Given the description of an element on the screen output the (x, y) to click on. 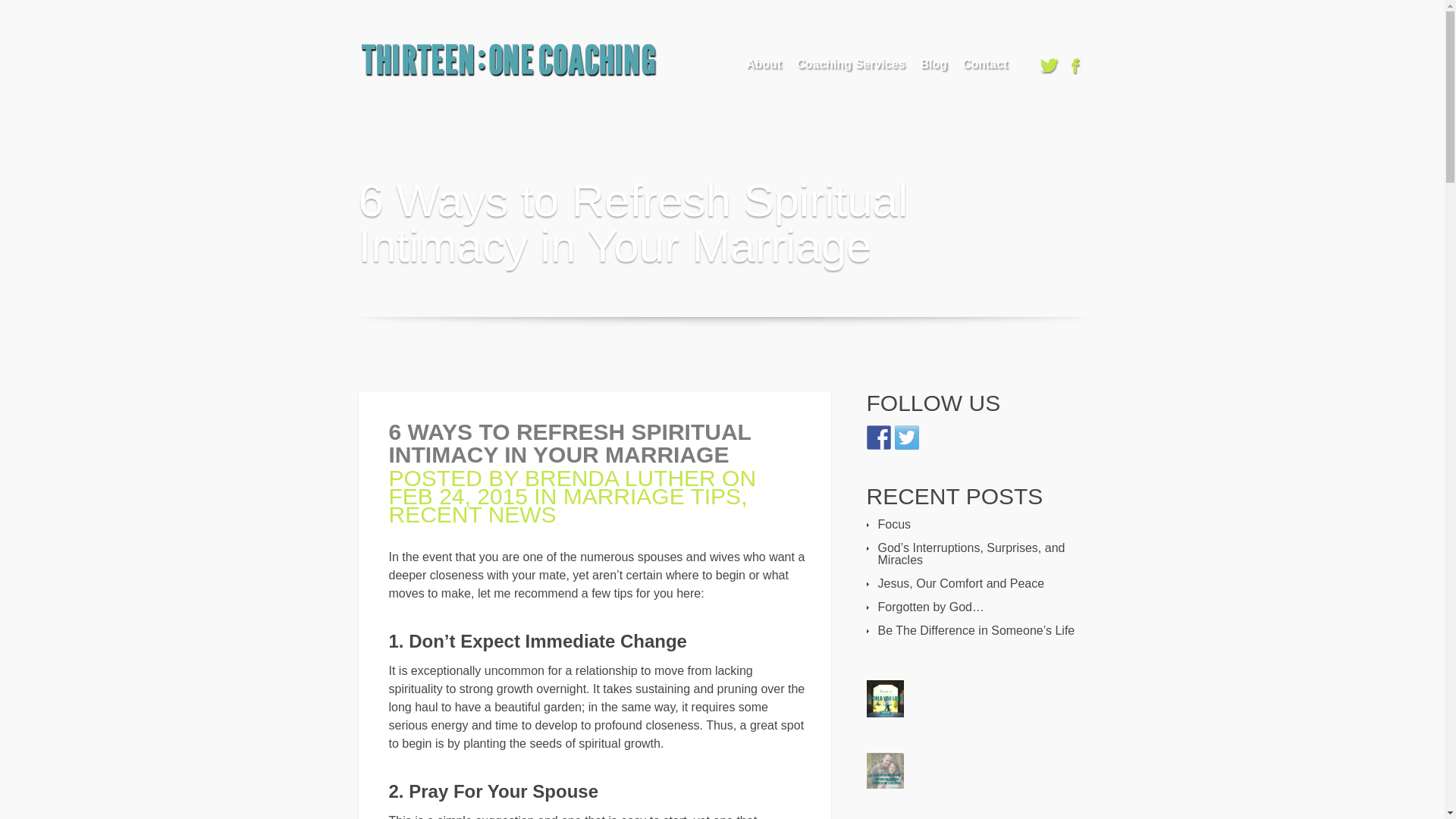
BRENDA LUTHER (620, 478)
RECENT NEWS (472, 514)
Contact (984, 67)
MARRIAGE TIPS (652, 496)
About (762, 67)
Blog (933, 67)
Posts by Brenda Luther (620, 478)
Coaching Services (850, 67)
